Given the description of an element on the screen output the (x, y) to click on. 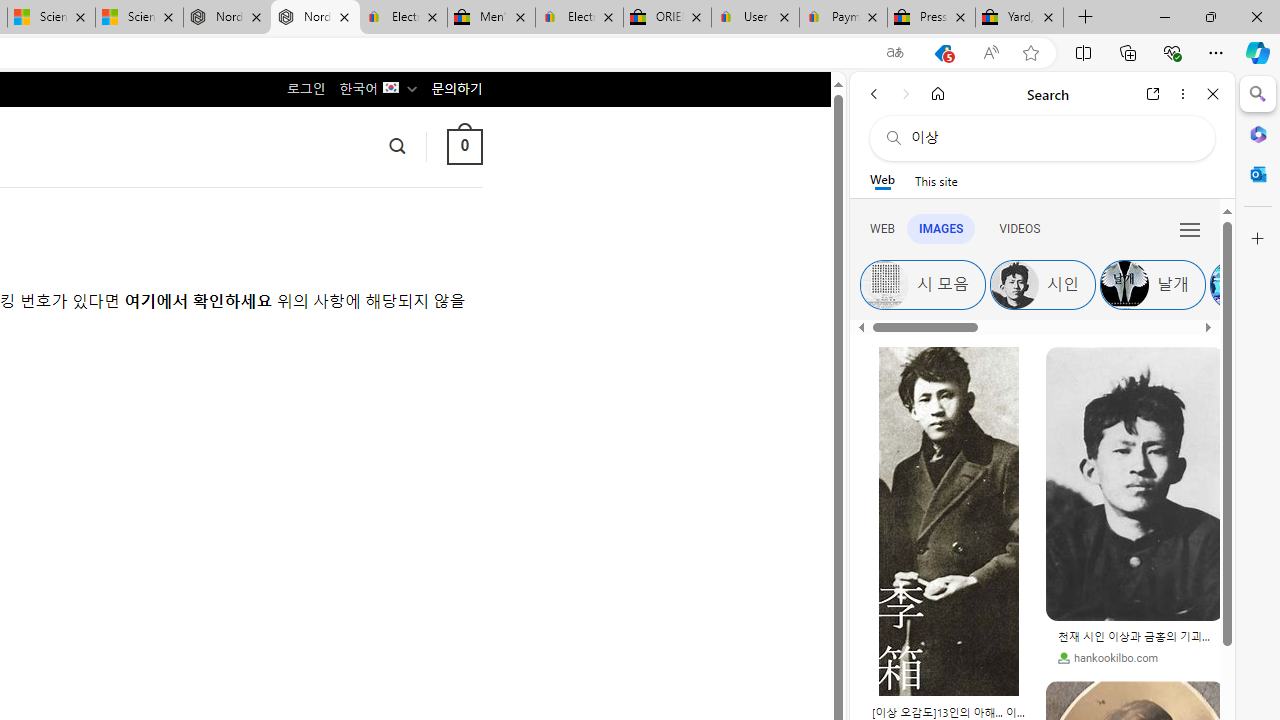
 0  (464, 146)
